Given the description of an element on the screen output the (x, y) to click on. 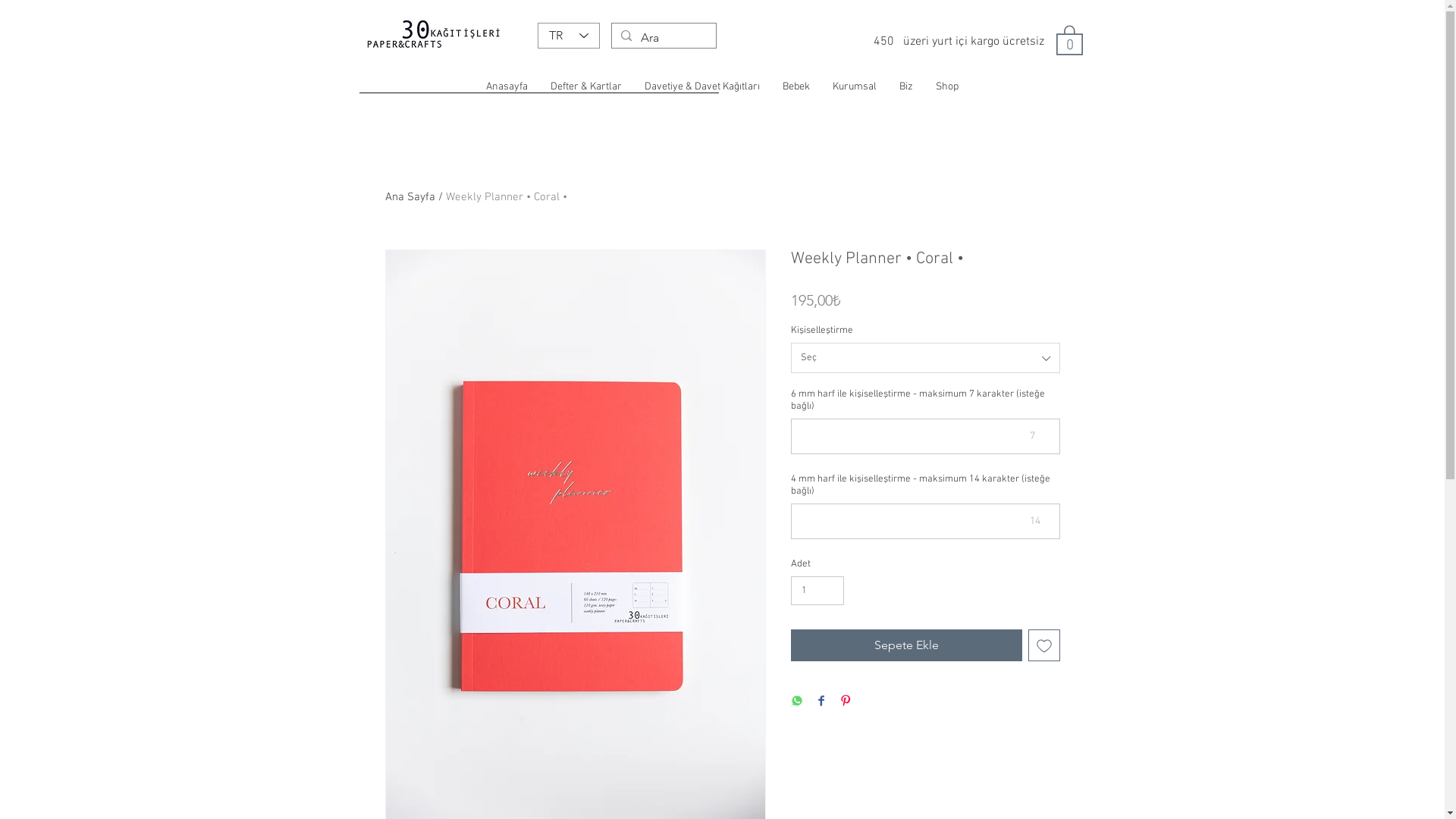
Bebek Element type: text (796, 87)
Ana Sayfa Element type: text (410, 196)
Anasayfa Element type: text (506, 87)
Kurumsal Element type: text (854, 87)
Defter & Kartlar Element type: text (586, 87)
Shop Element type: text (946, 87)
Sepete Ekle Element type: text (905, 645)
Biz Element type: text (906, 87)
0 Element type: text (1068, 39)
